Given the description of an element on the screen output the (x, y) to click on. 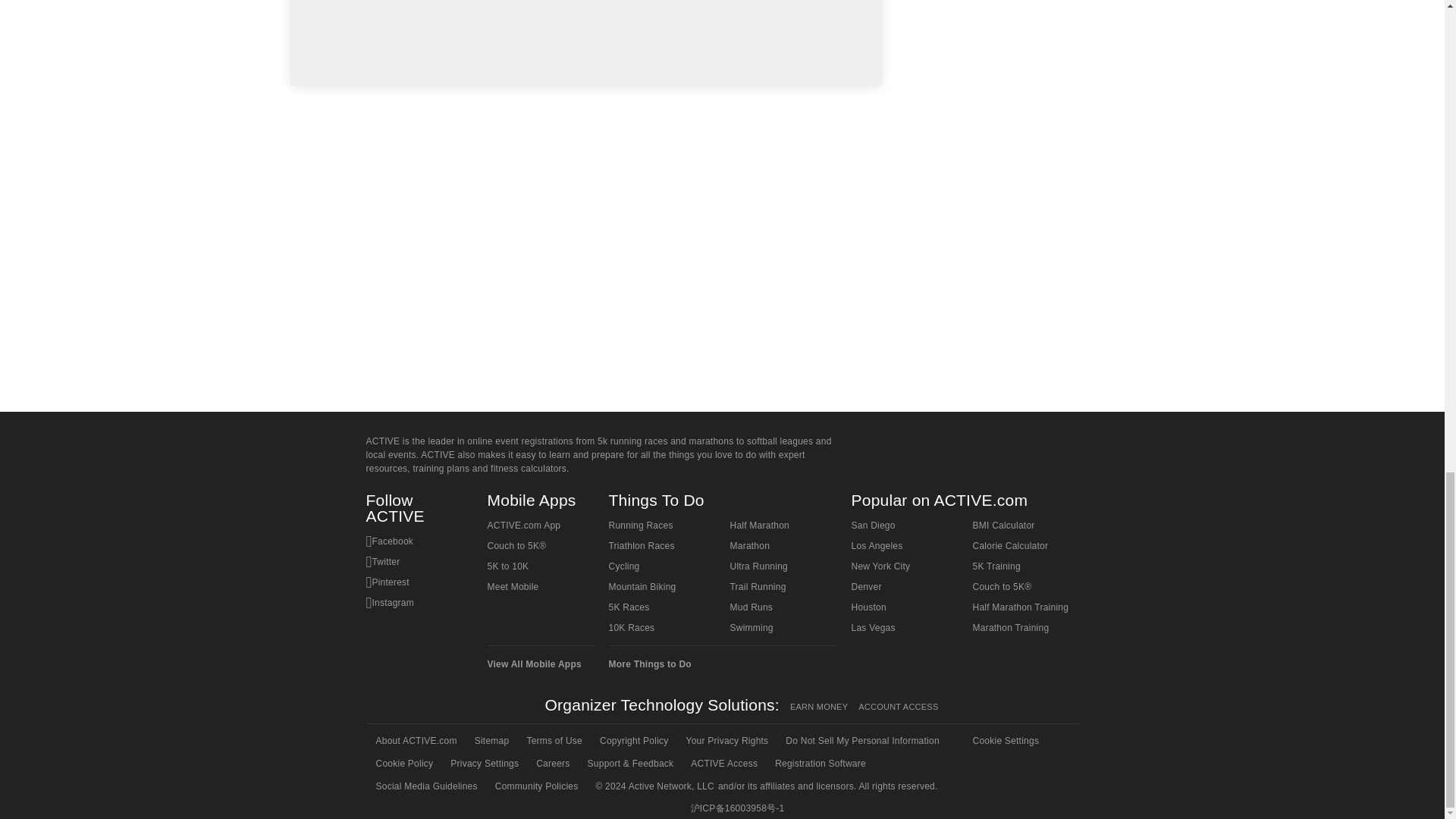
Your Privacy Rights: Updated (726, 740)
Careers at Active (550, 763)
Cookie Policy (403, 763)
Do Not Sell My Personal Information (861, 740)
Terms of Use (552, 740)
Privacy Settings (483, 763)
Copyright Policy (633, 740)
